Given the description of an element on the screen output the (x, y) to click on. 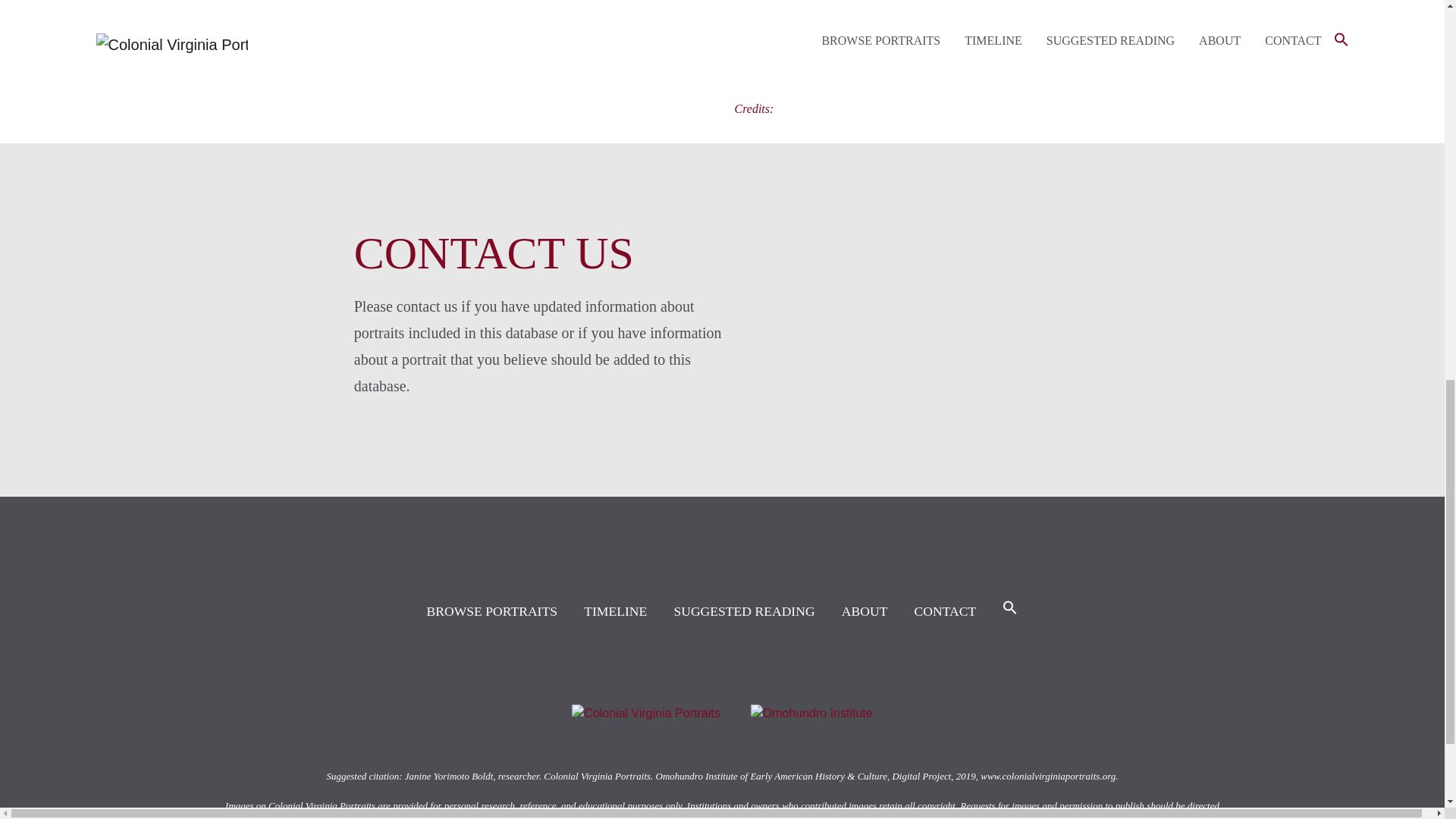
WINDOW (952, 54)
1720S (852, 18)
WOMAN (817, 54)
BROWSE PORTRAITS (491, 613)
Contact (945, 613)
Browse Portraits (491, 613)
TIMELINE (614, 613)
About (864, 613)
Timeline (614, 613)
DRAPERY (884, 54)
LANDSCAPE (1026, 54)
SUGGESTED READING (742, 613)
JEWELED CLASP (861, 74)
INTERIOR (1101, 54)
1710S (799, 18)
